Given the description of an element on the screen output the (x, y) to click on. 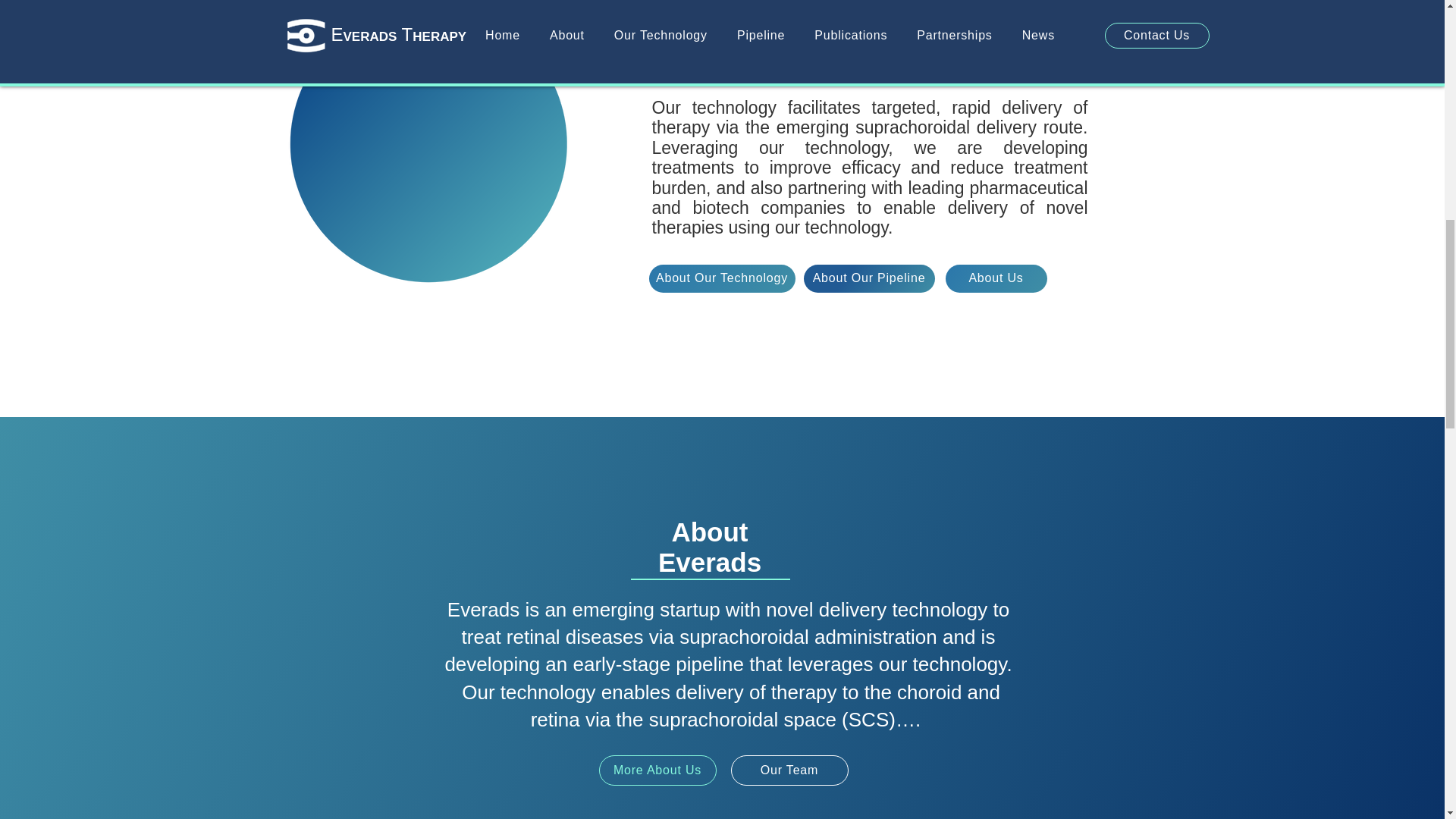
About Our Pipeline (868, 278)
About Our Technology (721, 278)
About Us (995, 278)
More About Us (657, 770)
Our Team (789, 770)
